Given the description of an element on the screen output the (x, y) to click on. 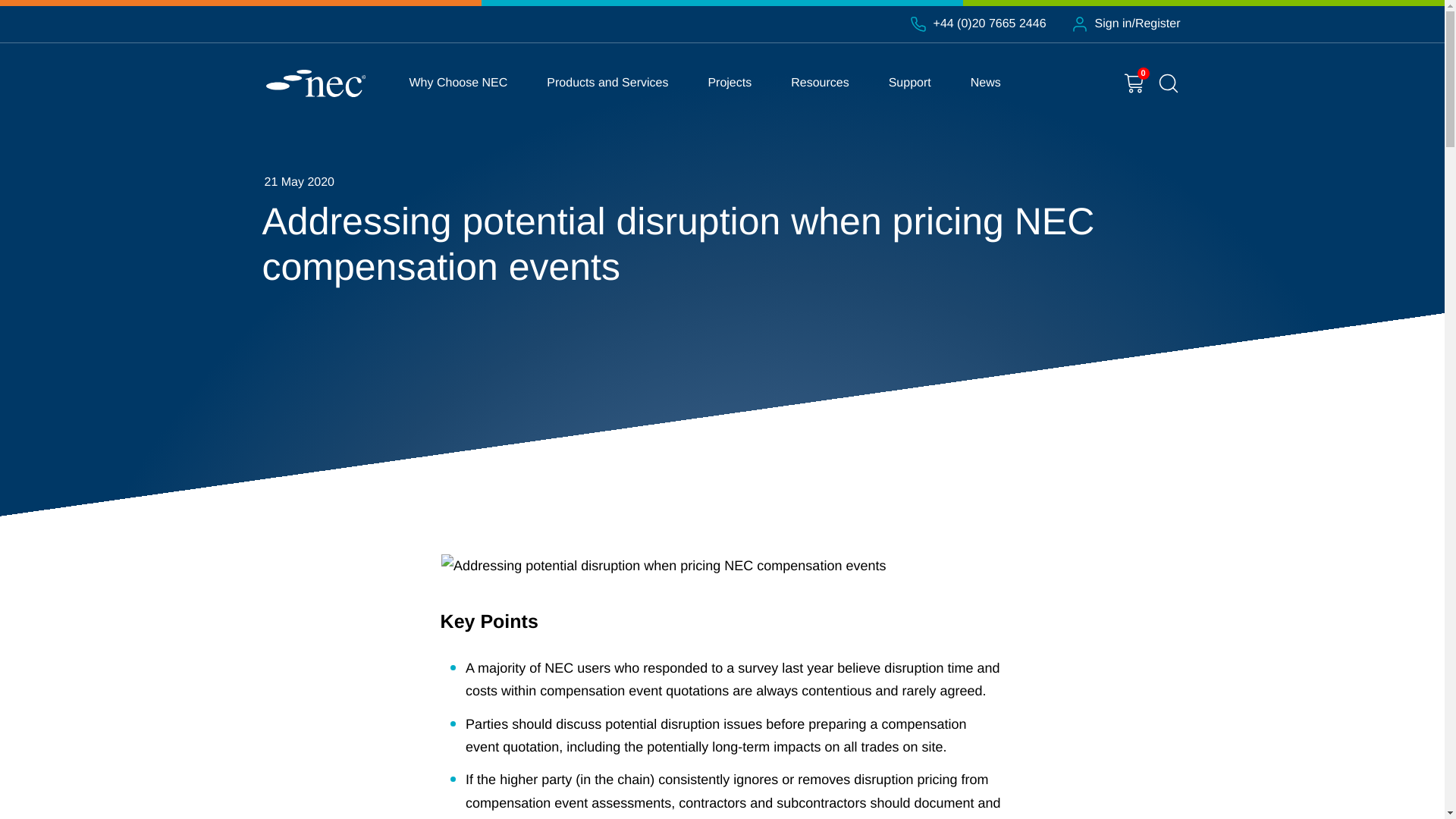
Why Choose NEC (458, 83)
Projects (730, 83)
Products and Services (606, 83)
